Given the description of an element on the screen output the (x, y) to click on. 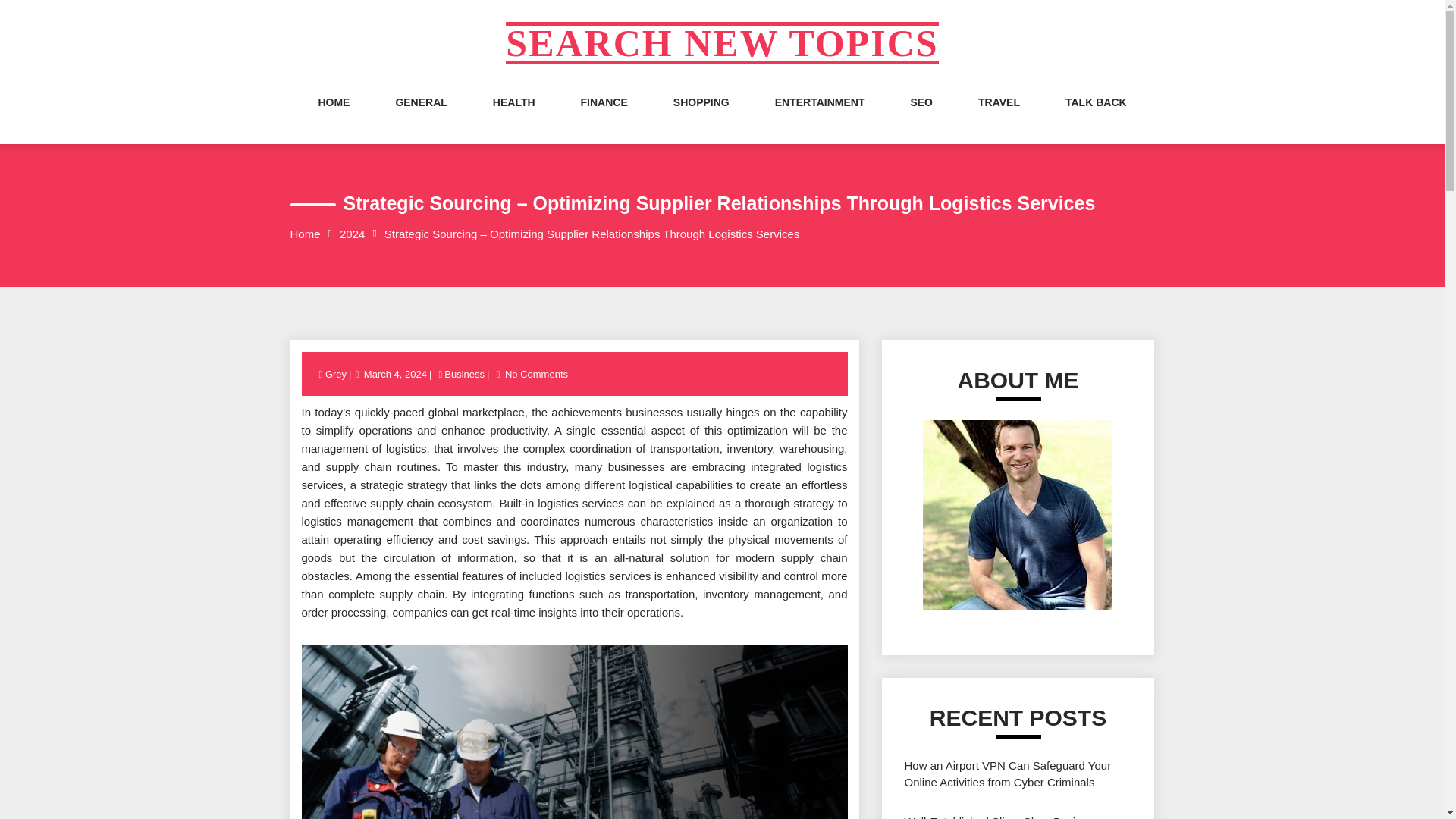
TALK BACK (1095, 117)
ENTERTAINMENT (819, 117)
HEALTH (514, 117)
Grey (336, 374)
2024 (352, 233)
No Comments (536, 374)
GENERAL (420, 117)
FINANCE (603, 117)
SEARCH NEW TOPICS (721, 43)
March 4, 2024 (395, 374)
SHOPPING (700, 117)
Well-Established Slime Shop Business Available for Sale (1001, 816)
Business (464, 374)
TRAVEL (999, 117)
